Given the description of an element on the screen output the (x, y) to click on. 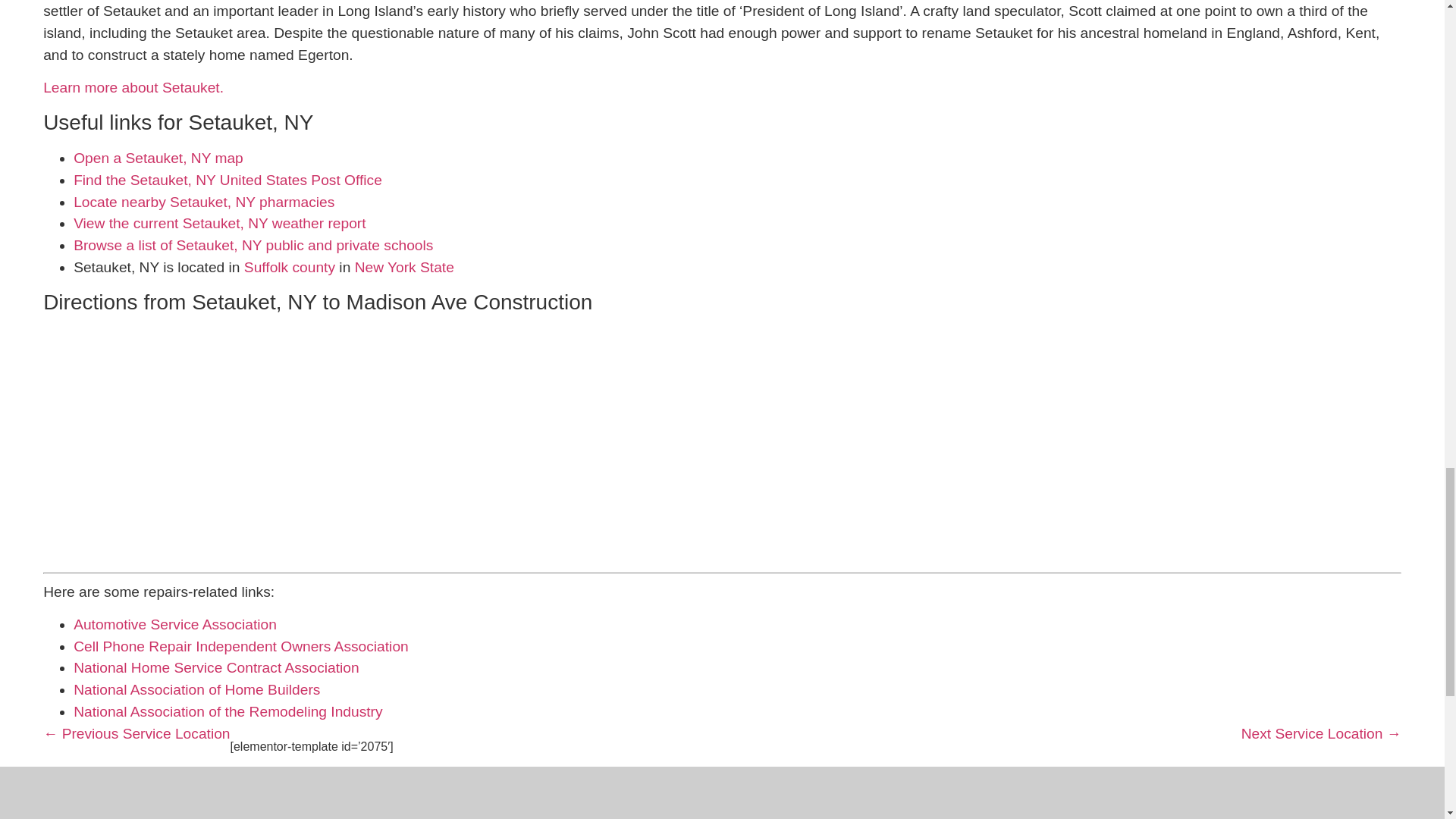
Learn more about Setauket. (133, 87)
